Given the description of an element on the screen output the (x, y) to click on. 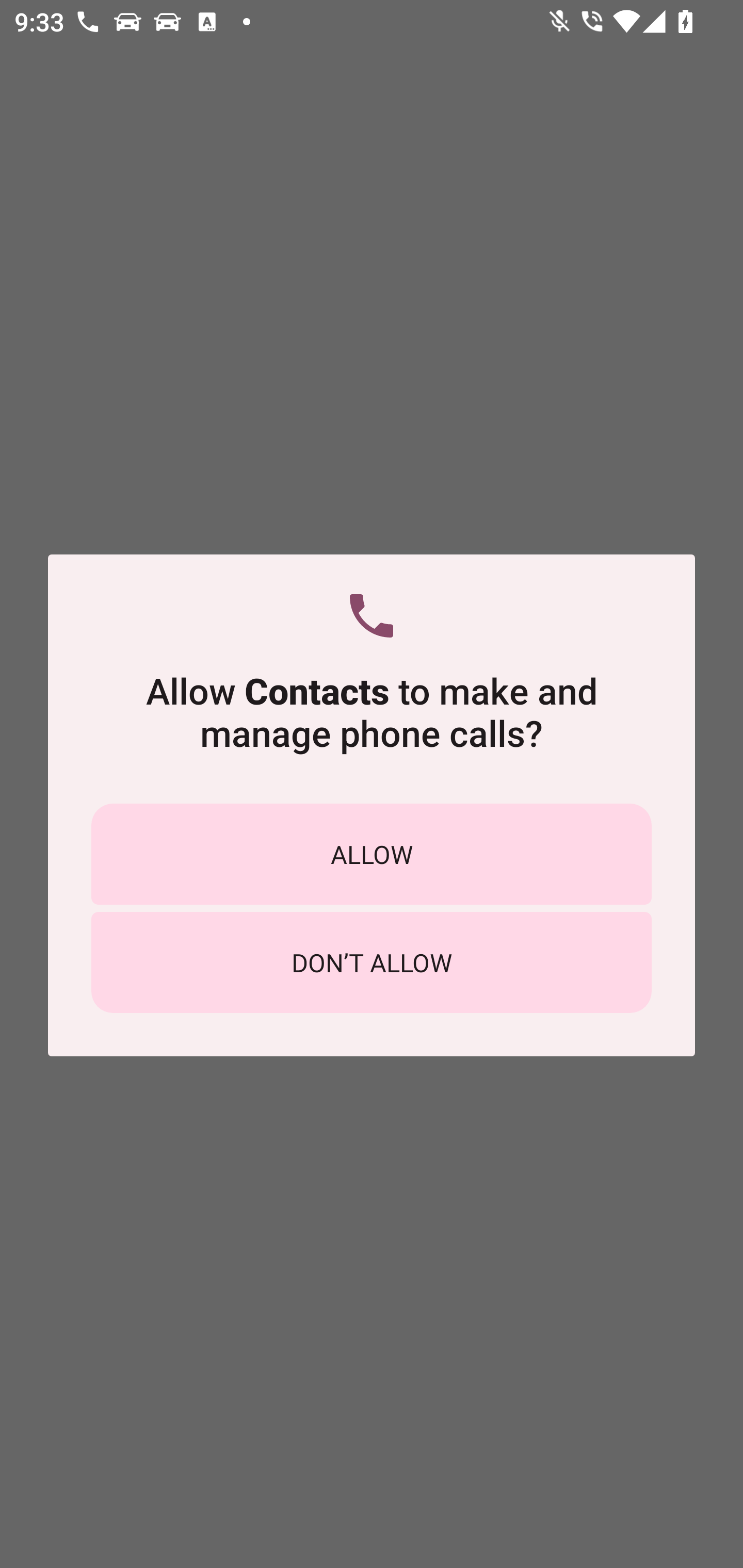
ALLOW (371, 853)
DON’T ALLOW (371, 962)
